Given the description of an element on the screen output the (x, y) to click on. 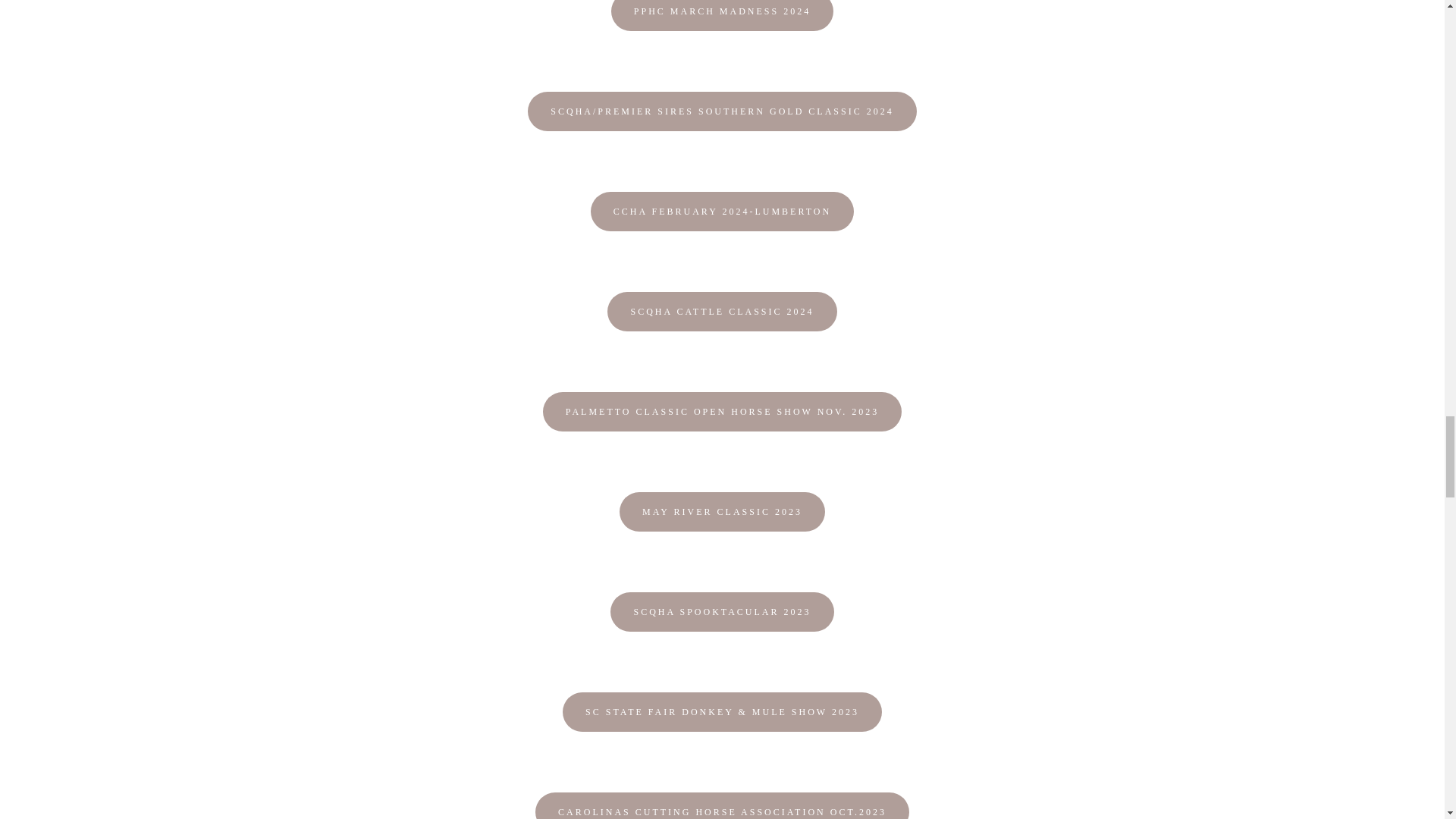
CCHA FEBRUARY 2024-LUMBERTON (722, 210)
PPHC MARCH MADNESS 2024 (721, 15)
SCQHA CATTLE CLASSIC 2024 (721, 311)
